Given the description of an element on the screen output the (x, y) to click on. 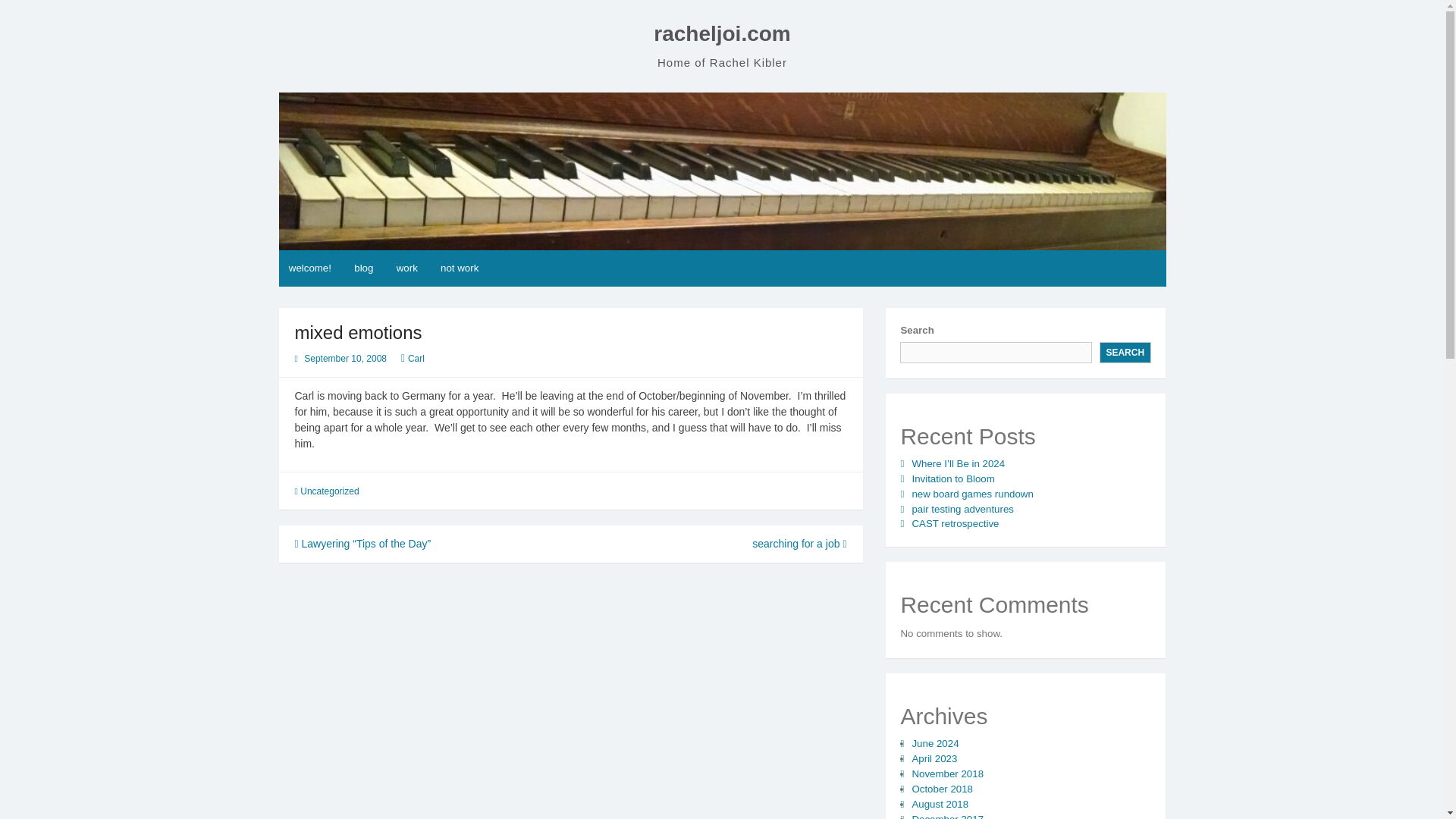
October 2018 (941, 788)
new board games rundown (971, 493)
April 2023 (933, 758)
June 2024 (934, 743)
August 2018 (939, 803)
welcome! (310, 268)
pair testing adventures (962, 509)
not work (459, 268)
Uncategorized (328, 491)
September 10, 2008 (345, 357)
